Given the description of an element on the screen output the (x, y) to click on. 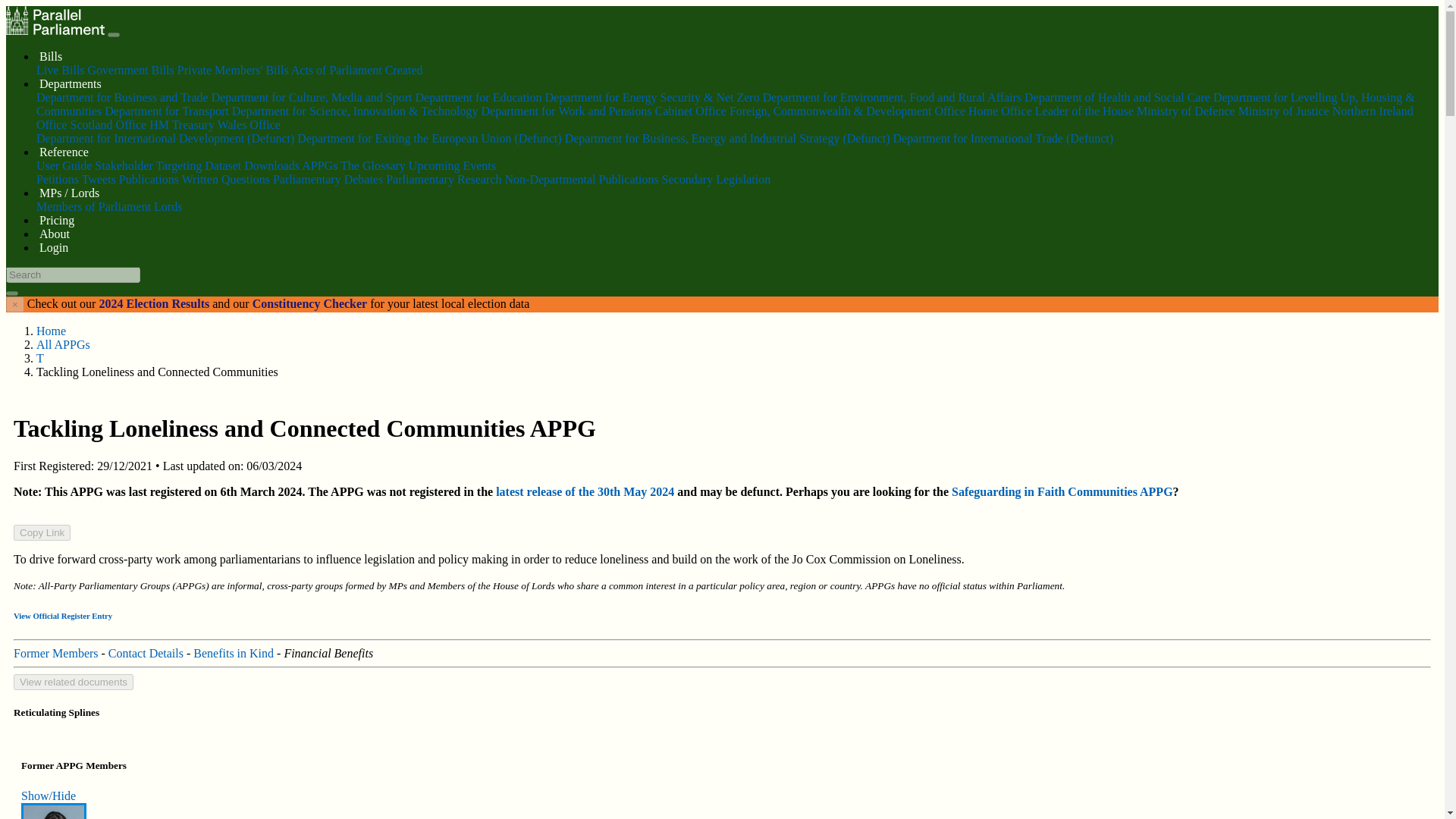
Upcoming Events (452, 164)
Home Office (1000, 110)
Bills (50, 56)
User Guide (63, 164)
Ministry of Justice (1284, 110)
Department for Transport (166, 110)
Wales Office (248, 124)
Department for Culture, Media and Sport (311, 97)
Department of Health and Social Care (1117, 97)
Departments (70, 83)
Leader of the House (1084, 110)
Ministry of Defence (1185, 110)
APPGs (319, 164)
Cabinet Office (690, 110)
Department for Education (477, 97)
